Given the description of an element on the screen output the (x, y) to click on. 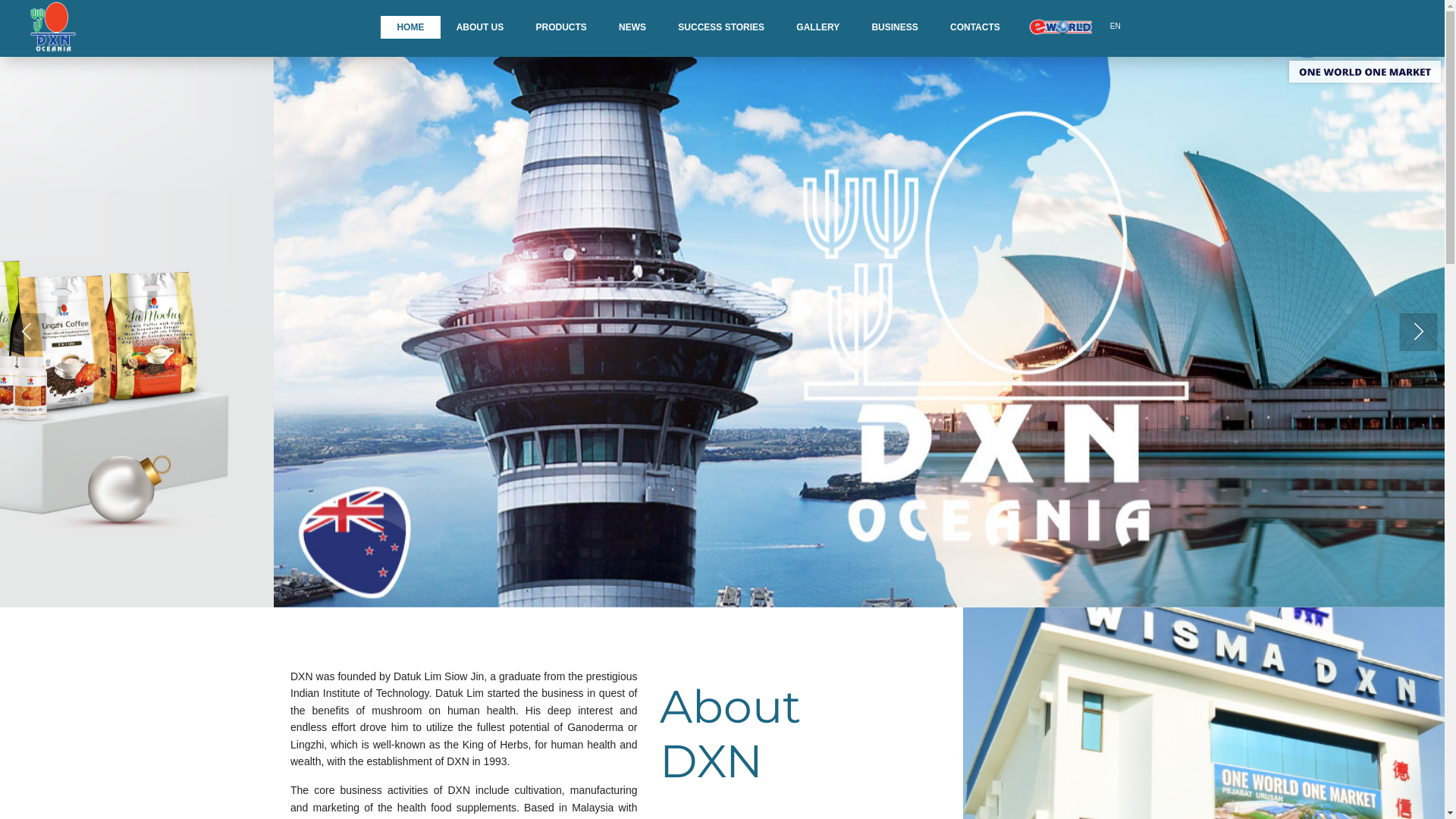
EN Element type: text (1115, 26)
CONTACTS Element type: text (975, 26)
GALLERY Element type: text (817, 26)
SUCCESS STORIES Element type: text (721, 26)
PRODUCTS Element type: text (560, 26)
HOME Element type: text (409, 26)
BUSINESS Element type: text (894, 26)
ABOUT US Element type: text (480, 26)
NEWS Element type: text (632, 26)
